Given the description of an element on the screen output the (x, y) to click on. 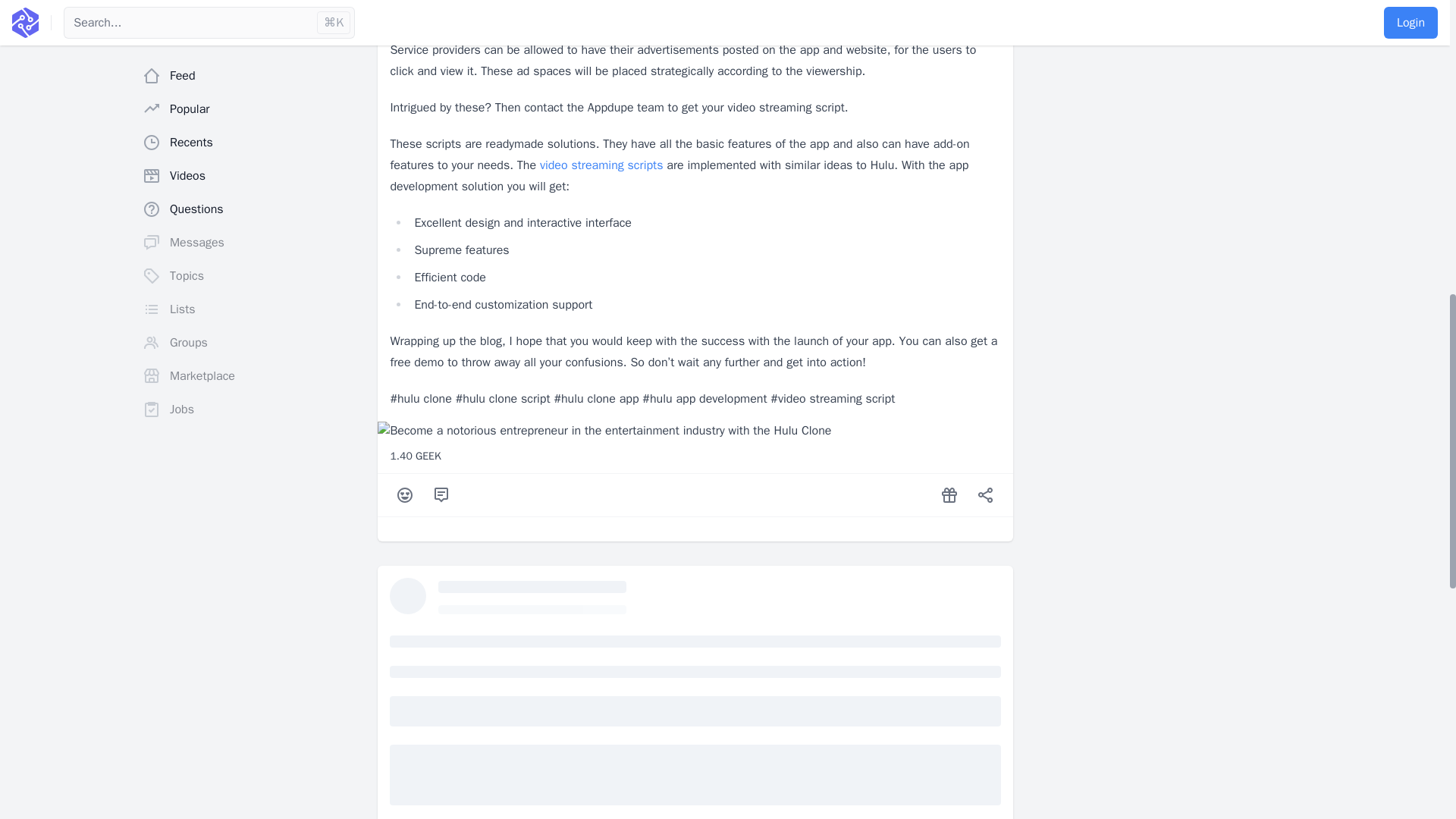
Share (986, 494)
Send me a coffee (948, 494)
Like (405, 494)
video streaming scripts (601, 165)
Write a comment (441, 494)
video streaming scripts (601, 165)
